Given the description of an element on the screen output the (x, y) to click on. 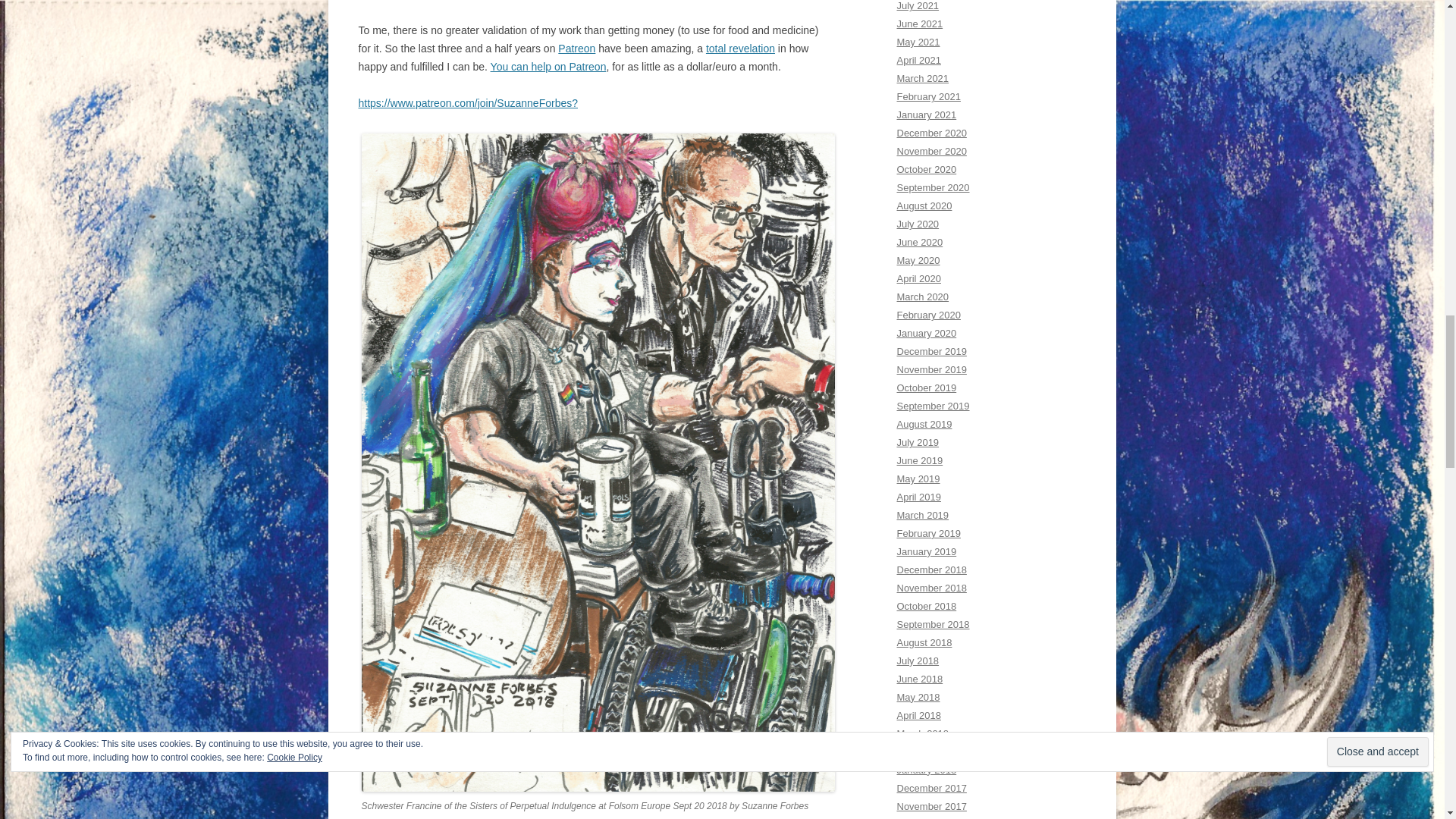
Patreon (576, 48)
You can help on Patreon (548, 66)
total revelation (740, 48)
